Given the description of an element on the screen output the (x, y) to click on. 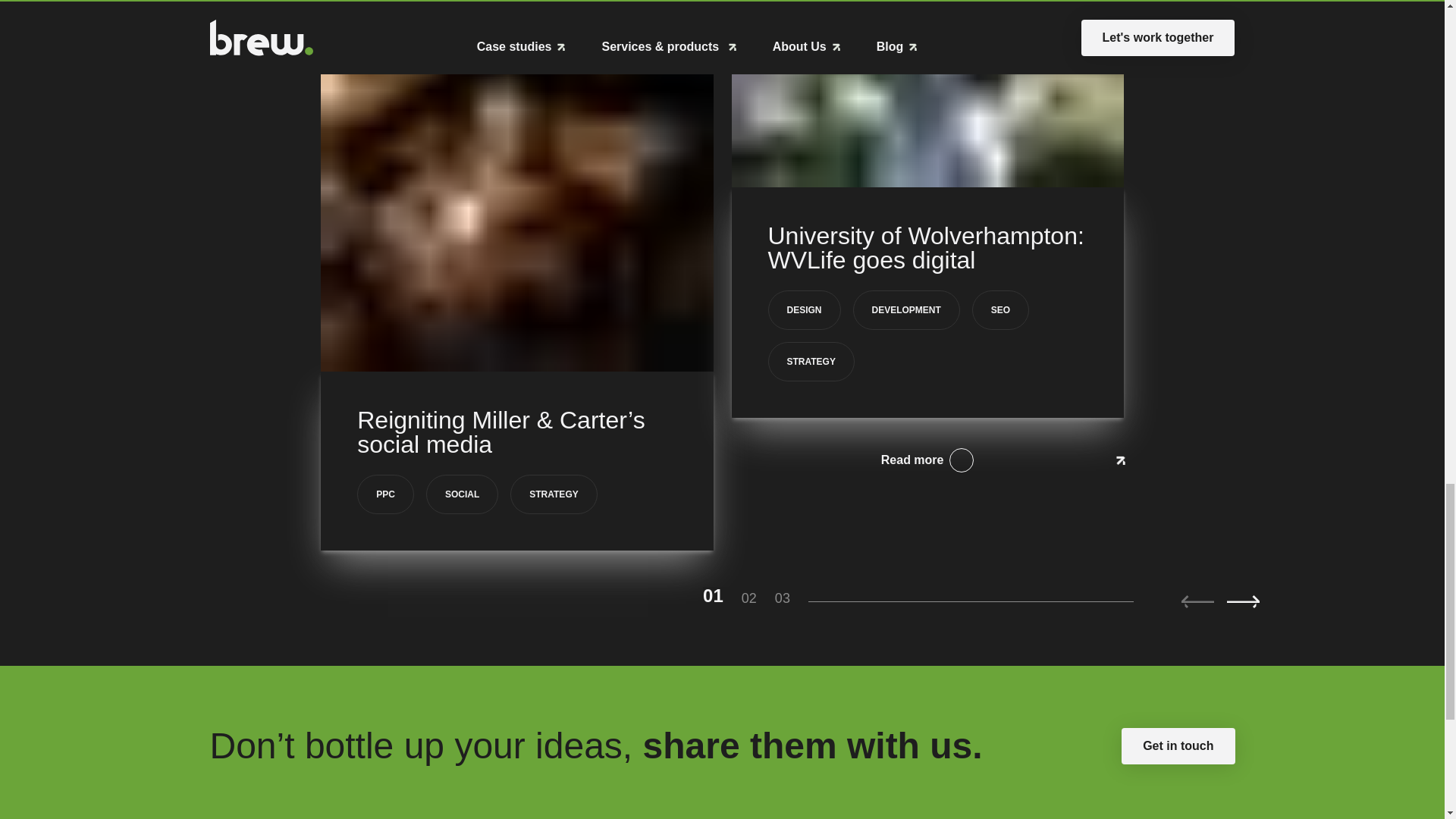
Next (1243, 601)
2 (757, 598)
Read more (927, 460)
Get in touch (1177, 746)
3 (791, 598)
Prev (1197, 601)
